Given the description of an element on the screen output the (x, y) to click on. 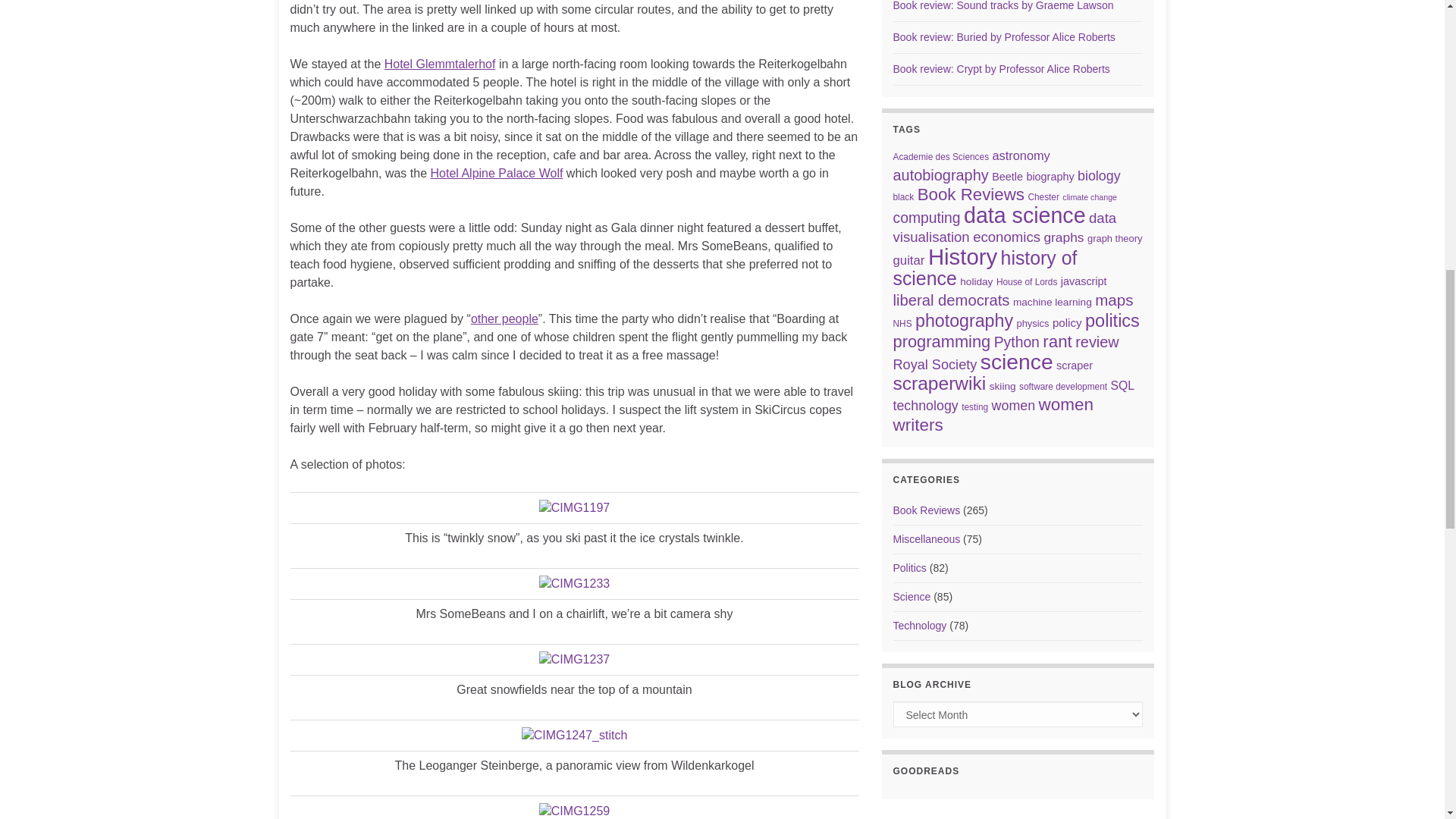
CIMG1259 (574, 811)
CIMG1237 (574, 660)
Hotel Glemmtalerhof (440, 63)
CIMG1197 (574, 507)
CIMG1233 (574, 583)
other people (504, 318)
Hotel Alpine Palace Wolf (496, 173)
